Given the description of an element on the screen output the (x, y) to click on. 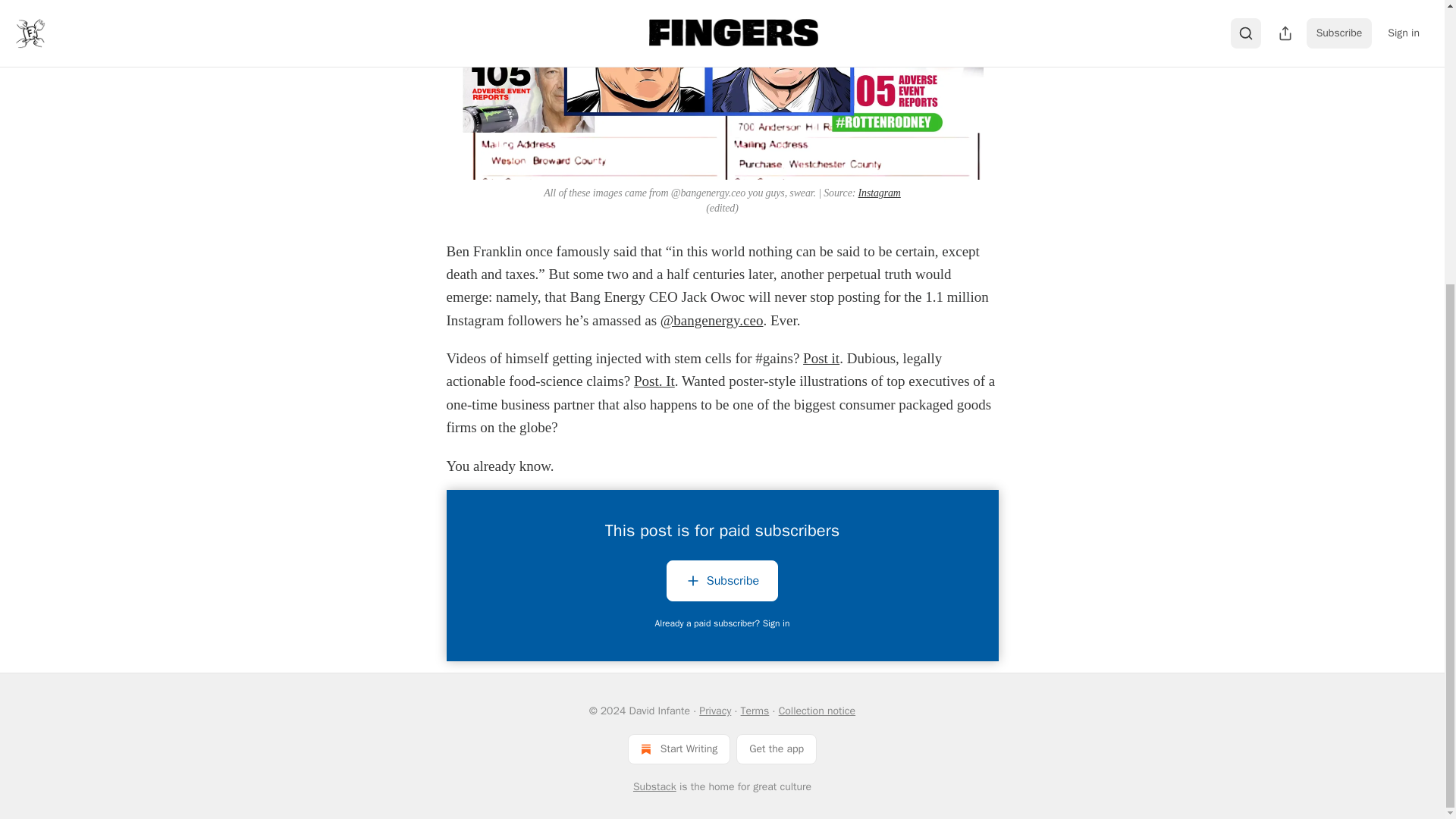
Post. It (654, 381)
Collection notice (817, 710)
Terms (755, 710)
Already a paid subscriber? Sign in (722, 623)
Post it (821, 358)
Get the app (776, 748)
Privacy (714, 710)
Subscribe (721, 583)
Substack (655, 786)
Instagram (880, 193)
Start Writing (678, 748)
Subscribe (721, 580)
